Given the description of an element on the screen output the (x, y) to click on. 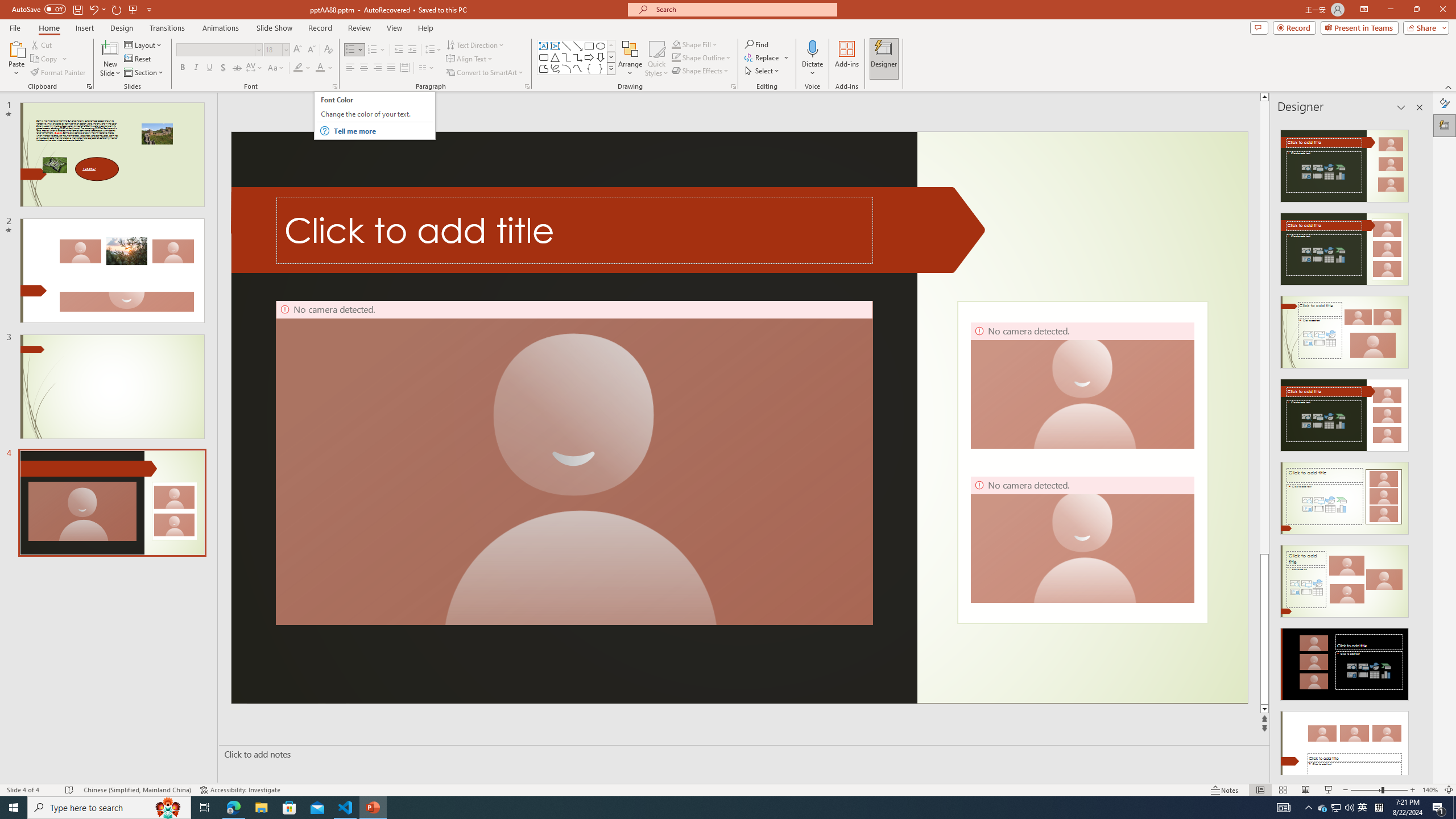
Decorative Locked (1082, 462)
